Given the description of an element on the screen output the (x, y) to click on. 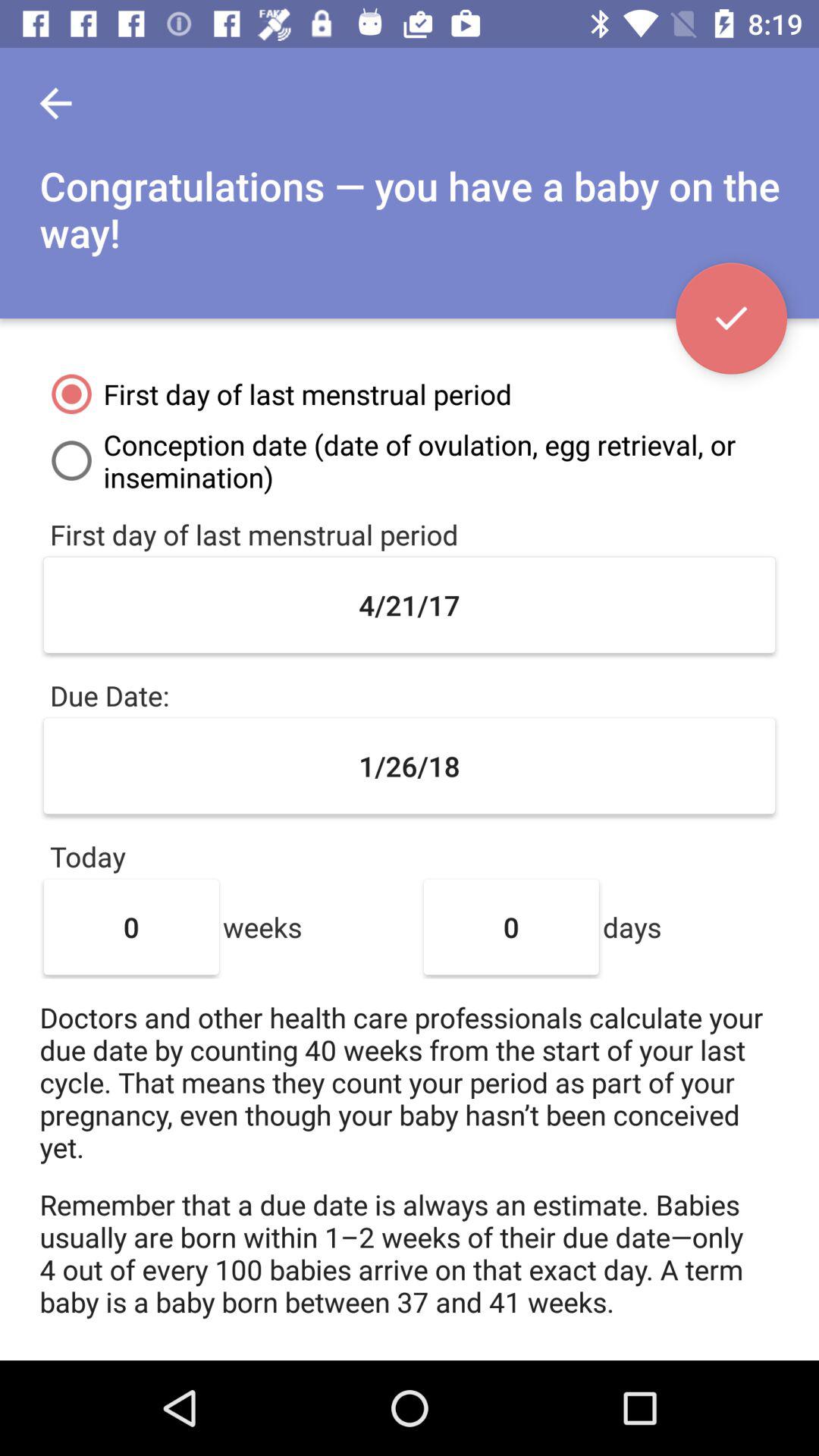
click item below due date: (409, 765)
